Given the description of an element on the screen output the (x, y) to click on. 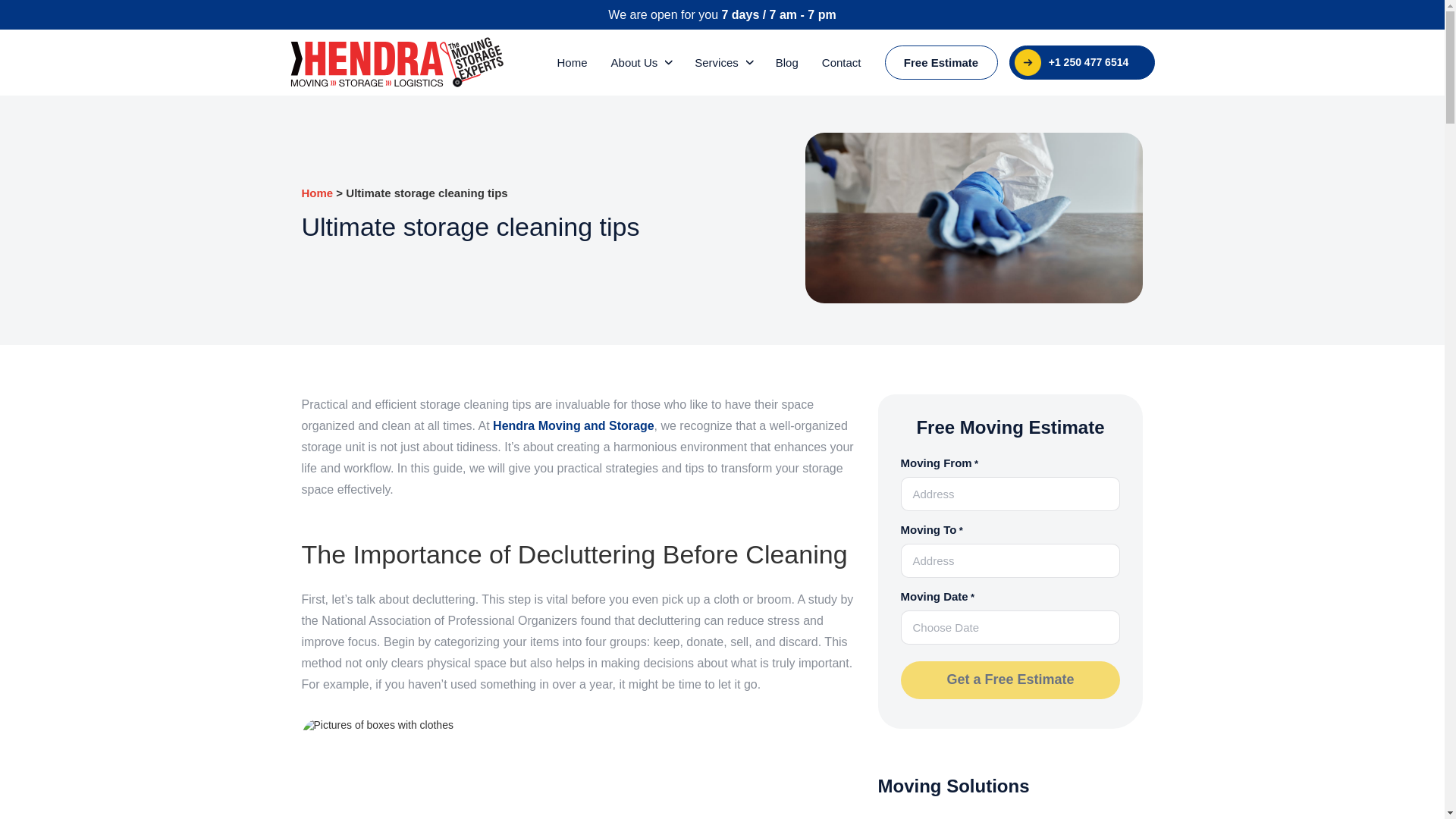
Get a Free Estimate (1011, 679)
About Us (634, 62)
Services (716, 62)
